Given the description of an element on the screen output the (x, y) to click on. 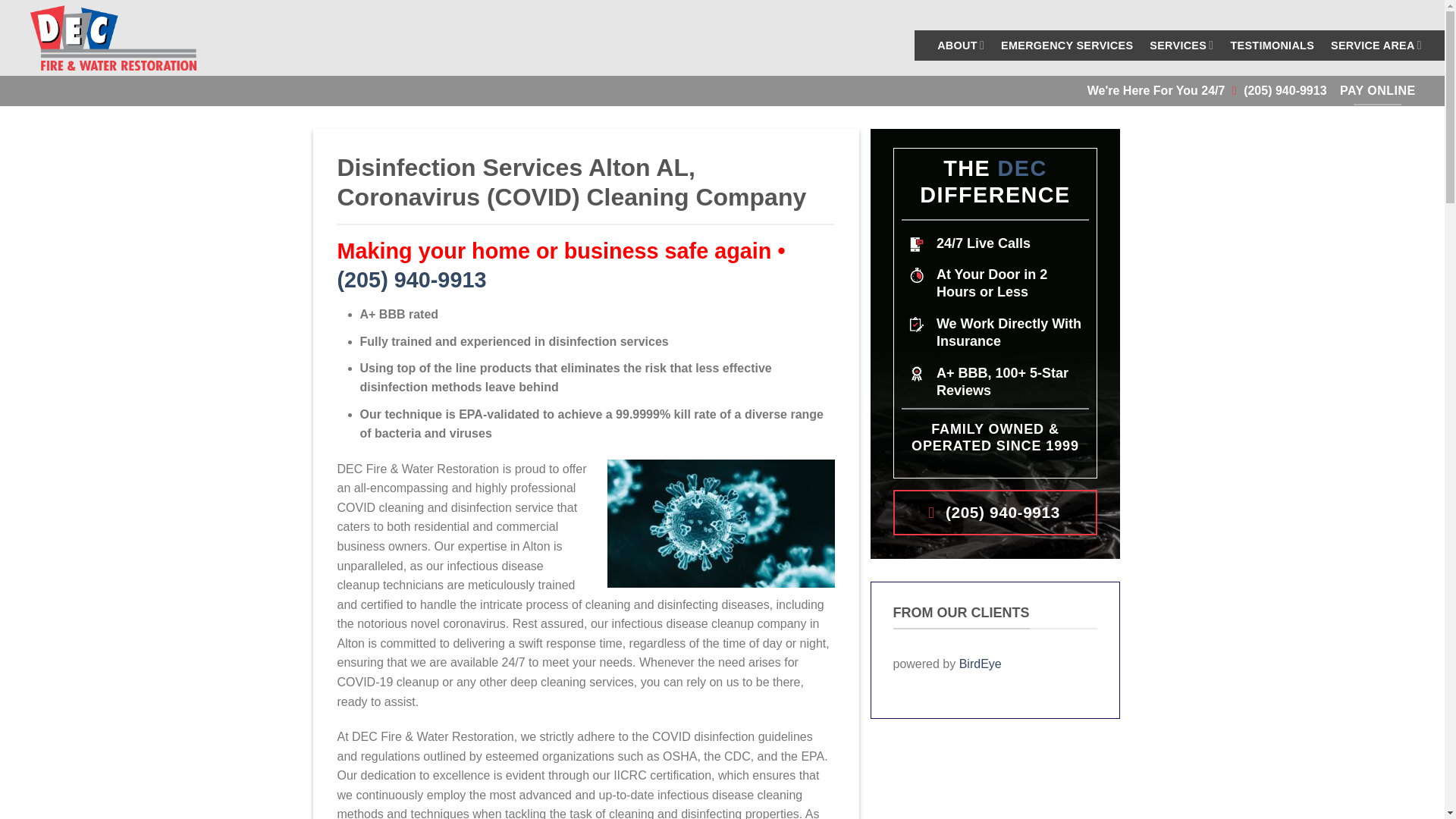
EMERGENCY SERVICES (1066, 44)
PAY ONLINE (1378, 91)
SERVICE AREA (1376, 44)
TESTIMONIALS (1272, 44)
ABOUT (960, 44)
SERVICES (1181, 44)
